Given the description of an element on the screen output the (x, y) to click on. 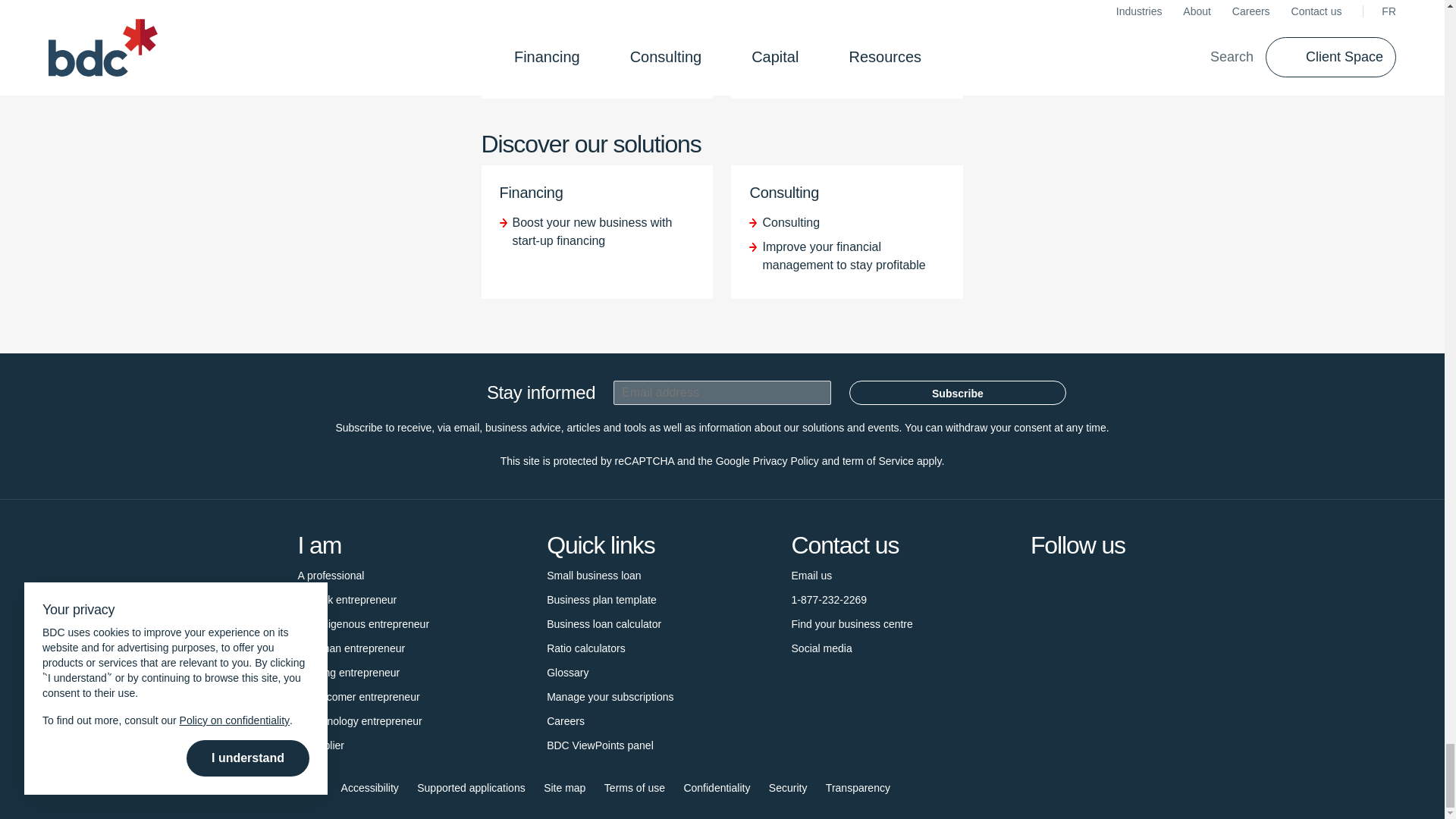
Financial tools (586, 648)
Professional (330, 575)
Supplier (320, 745)
Technology (359, 721)
Careers (566, 721)
Woman entrepreneur (350, 648)
Business plan template (601, 599)
Black Entrepreneur (346, 599)
Manage my email subscriptions (609, 696)
Newcomer entrepreneur (358, 696)
